Given the description of an element on the screen output the (x, y) to click on. 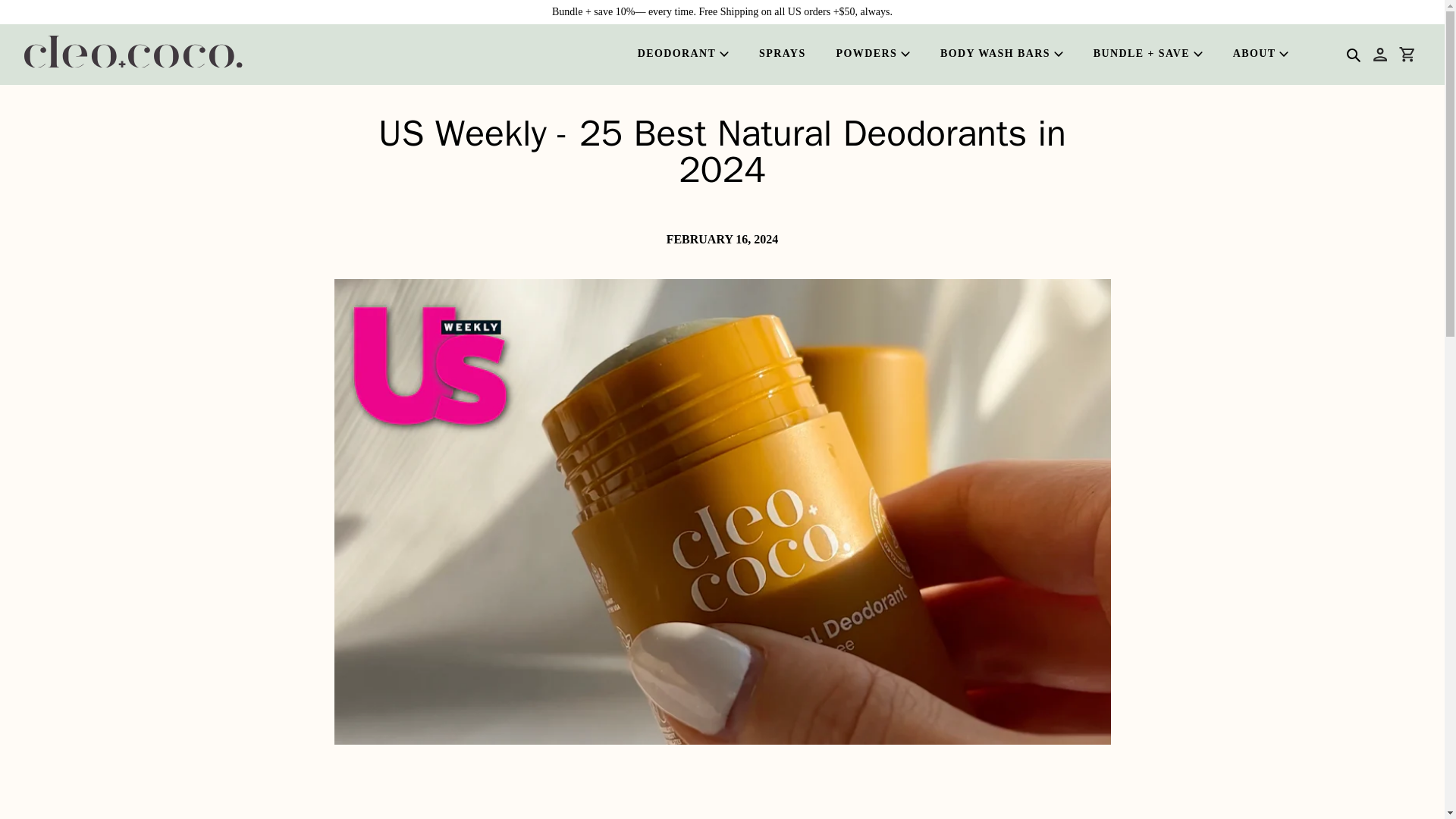
POWDERS  (873, 54)
Search (1353, 53)
SPRAYS (782, 54)
BODY WASH BARS  (1001, 54)
Log in (1380, 54)
Cart (1407, 53)
DEODORANT  (683, 54)
ABOUT  (1260, 54)
